Given the description of an element on the screen output the (x, y) to click on. 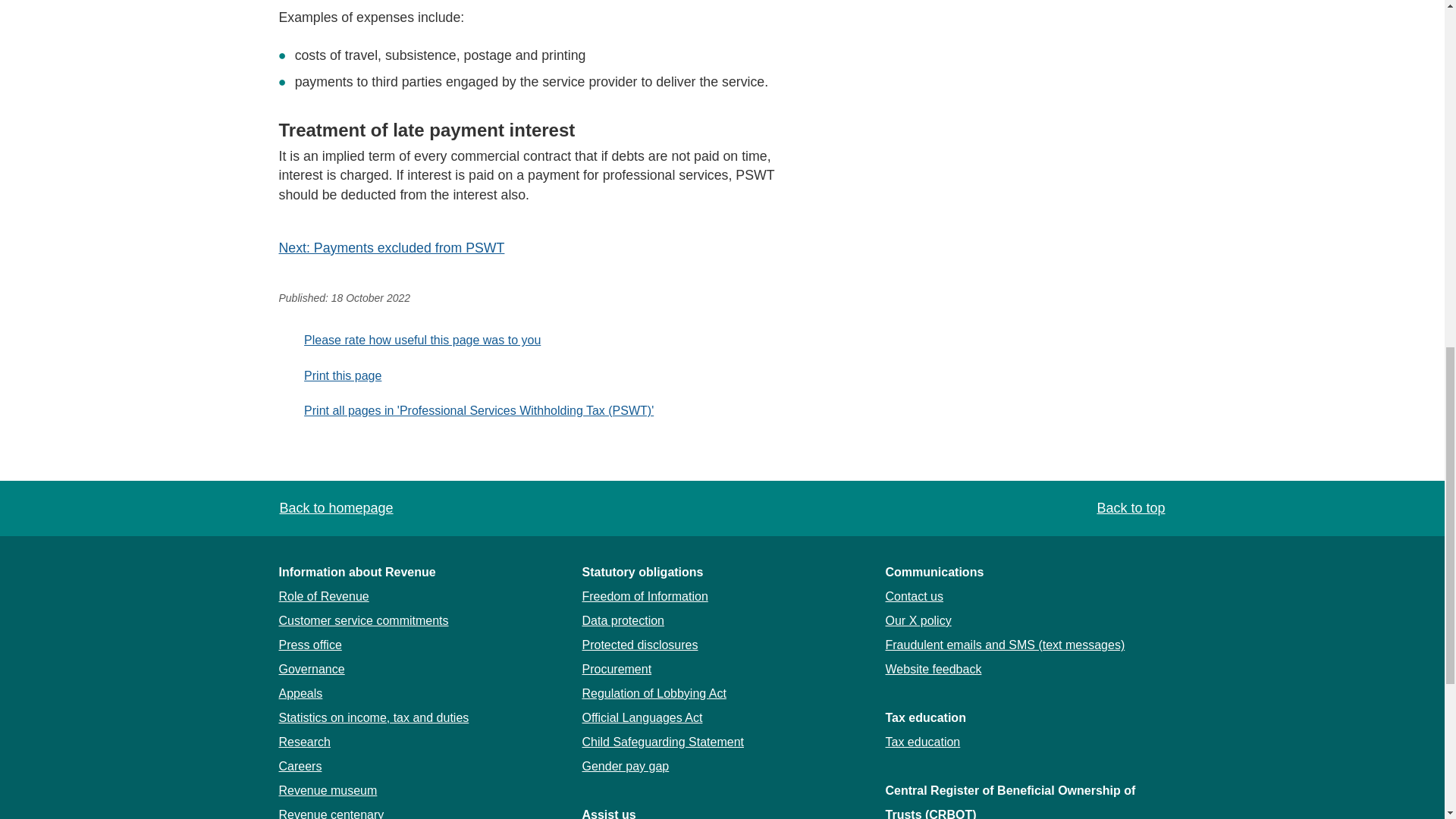
Customer service commitments (363, 620)
Research (304, 741)
Press office (310, 644)
Role of Revenue (324, 595)
Role of Revenue (324, 595)
Governance (312, 668)
Appeals (301, 693)
Statistics on income, tax and duties (373, 717)
Customer service commitments (363, 620)
Please rate how useful this page was to you (410, 340)
